Given the description of an element on the screen output the (x, y) to click on. 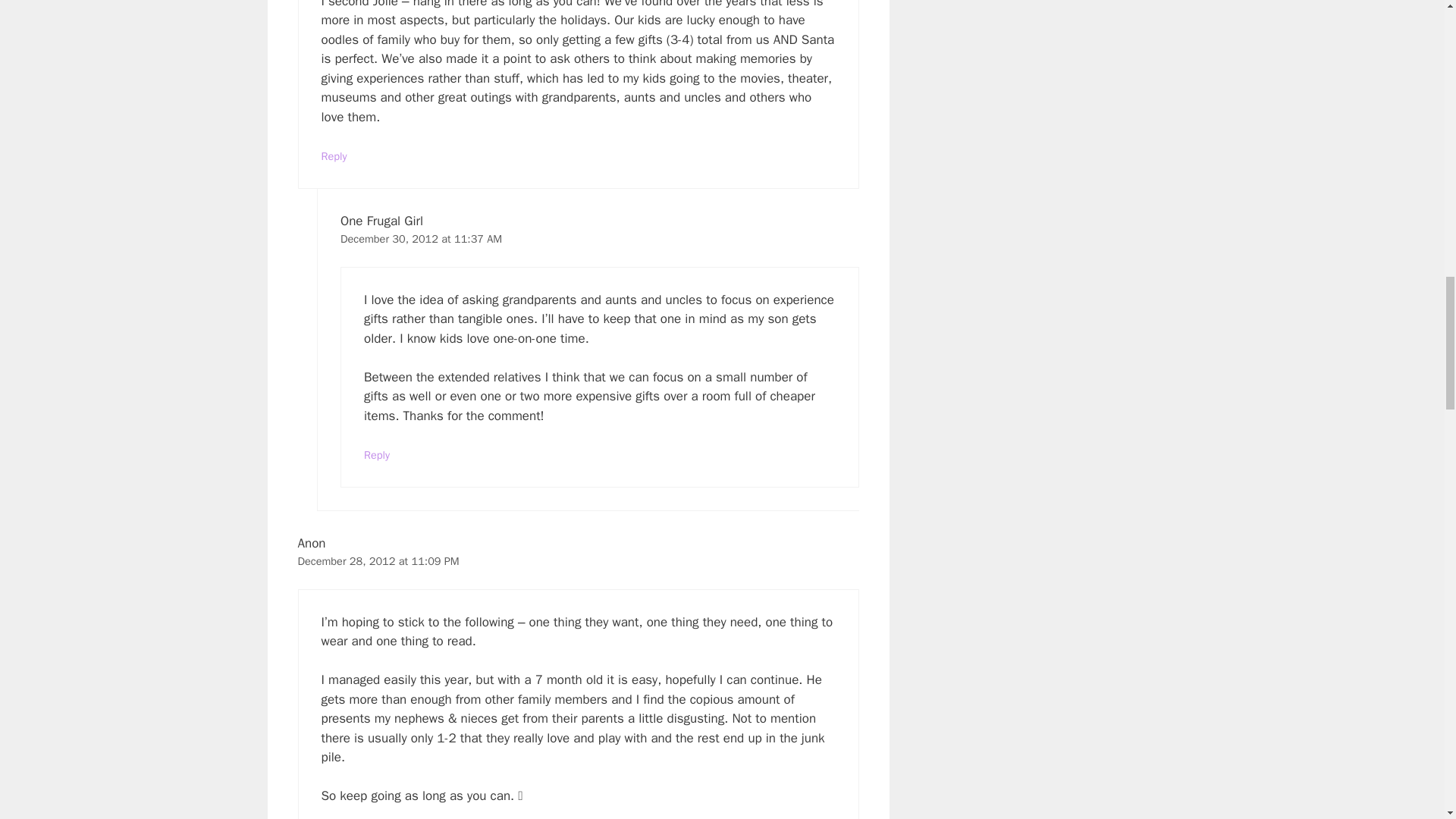
Reply (334, 155)
December 30, 2012 at 11:37 AM (421, 238)
Reply (377, 454)
December 28, 2012 at 11:09 PM (377, 561)
